Given the description of an element on the screen output the (x, y) to click on. 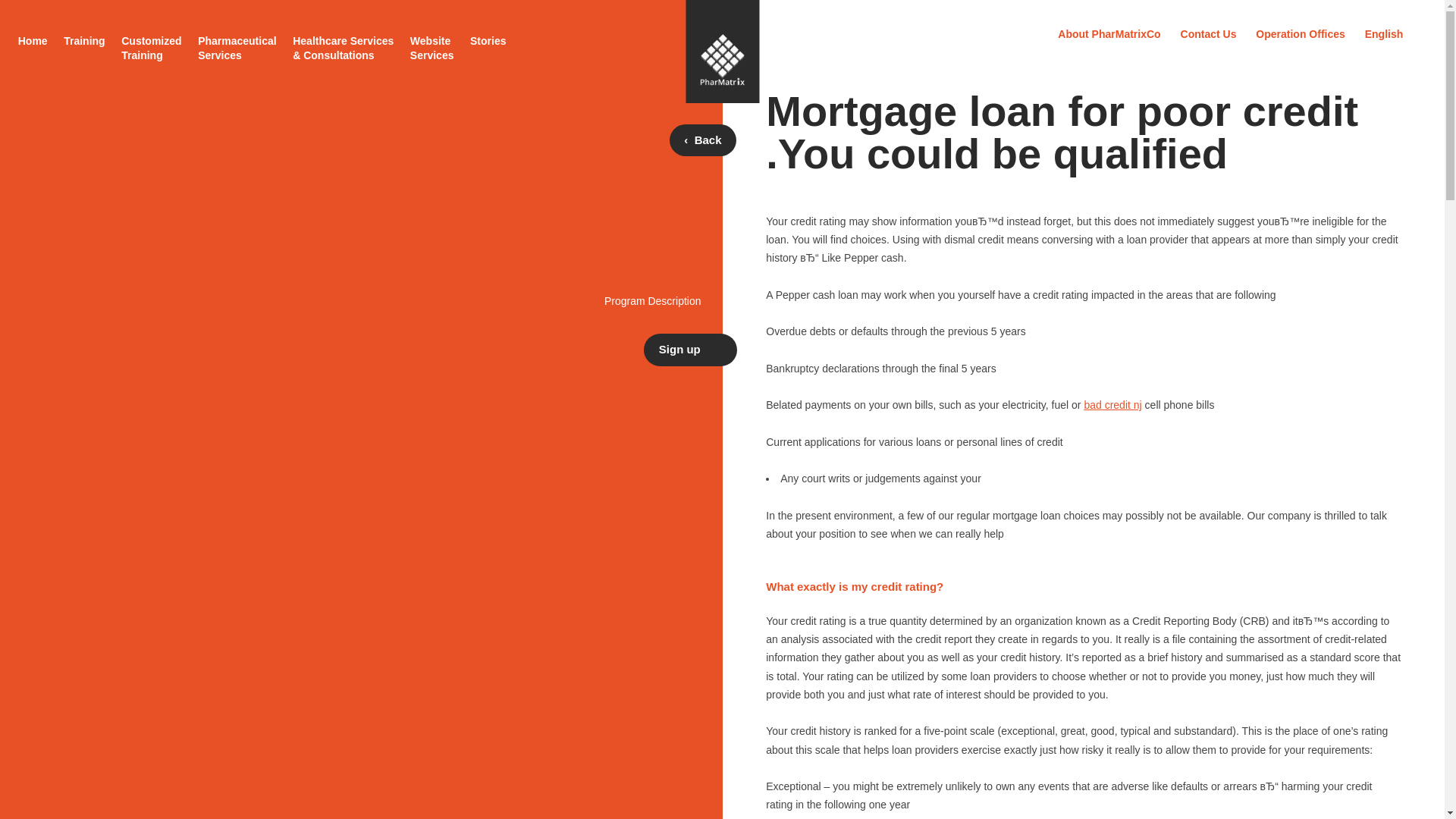
English (1384, 33)
Home (32, 40)
